Given the description of an element on the screen output the (x, y) to click on. 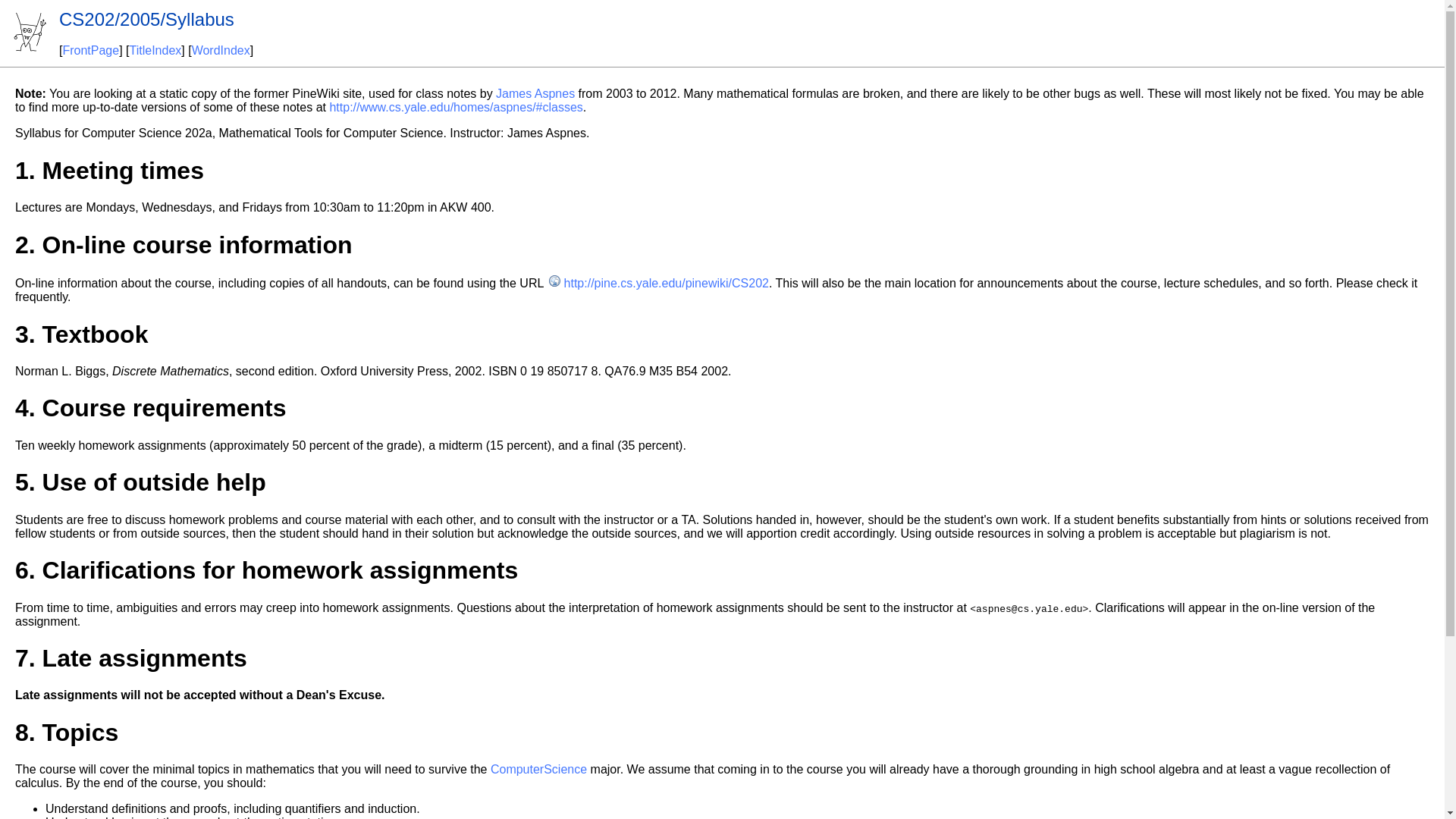
James Aspnes (535, 92)
ComputerScience (538, 768)
FrontPage (90, 50)
WordIndex (221, 50)
TitleIndex (155, 50)
